Given the description of an element on the screen output the (x, y) to click on. 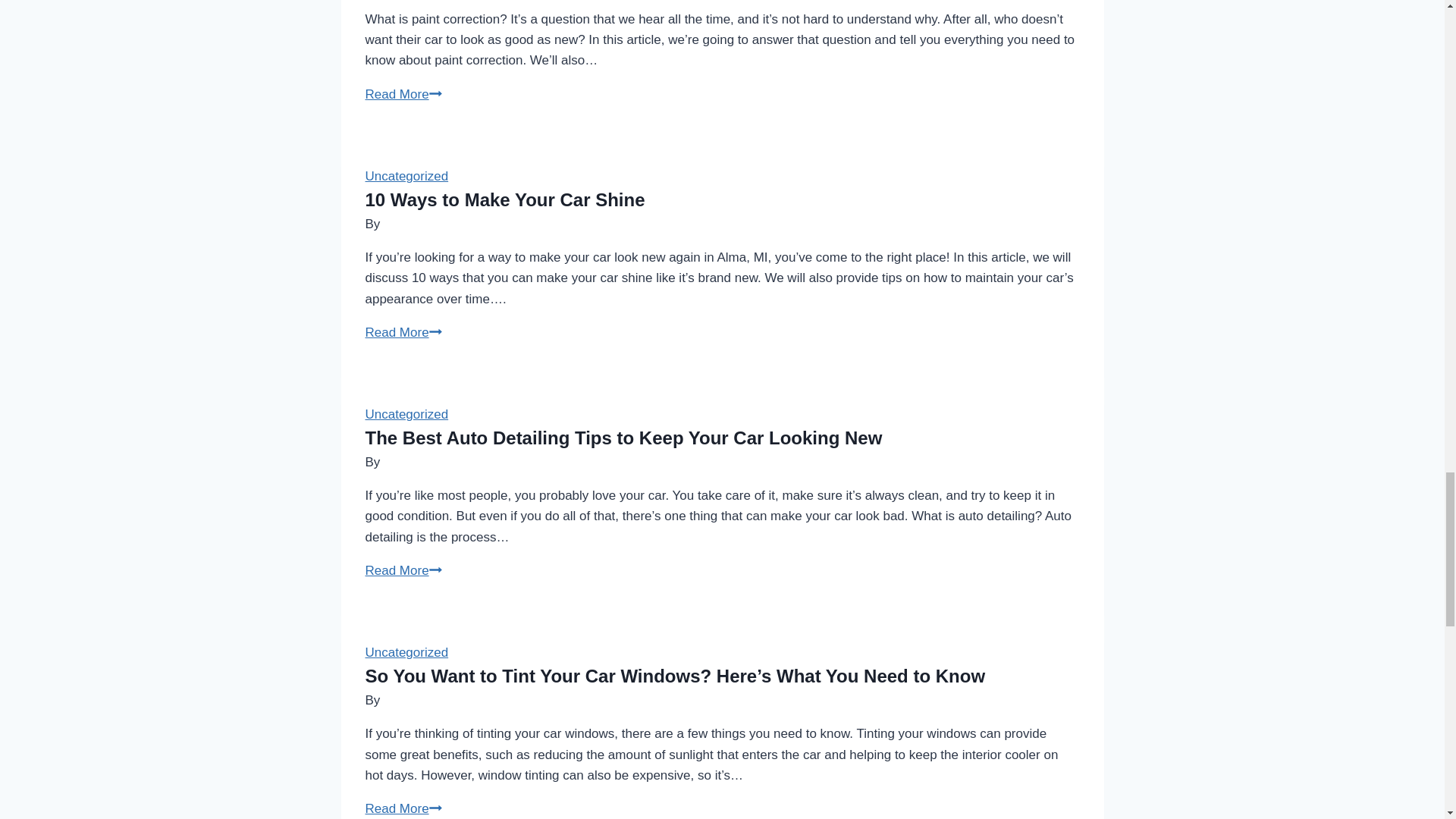
10 Ways to Make Your Car Shine (505, 199)
Uncategorized (406, 175)
Uncategorized (406, 414)
The Best Auto Detailing Tips to Keep Your Car Looking New (403, 93)
Uncategorized (623, 437)
